Given the description of an element on the screen output the (x, y) to click on. 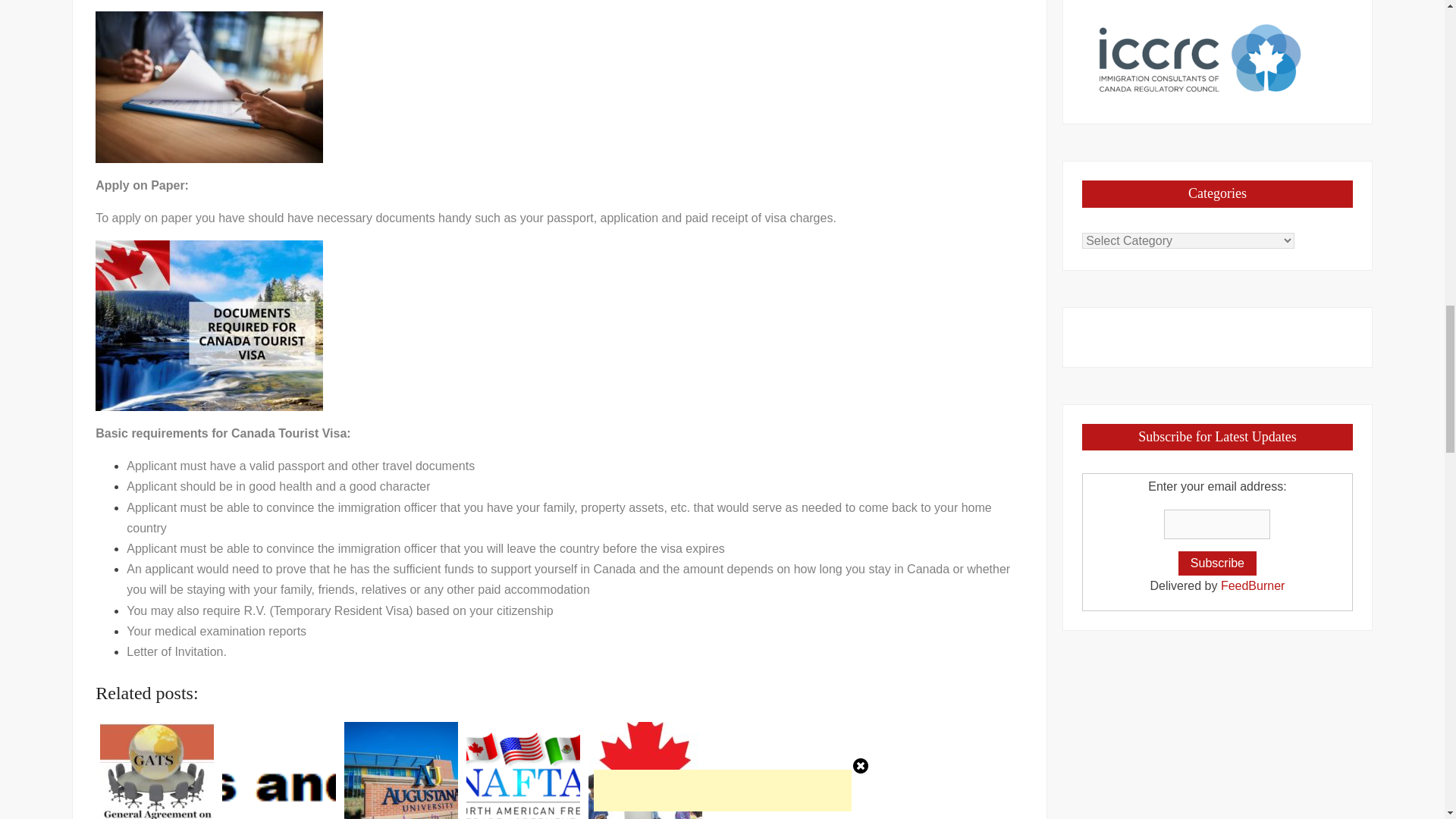
Subscribe (1216, 563)
